Given the description of an element on the screen output the (x, y) to click on. 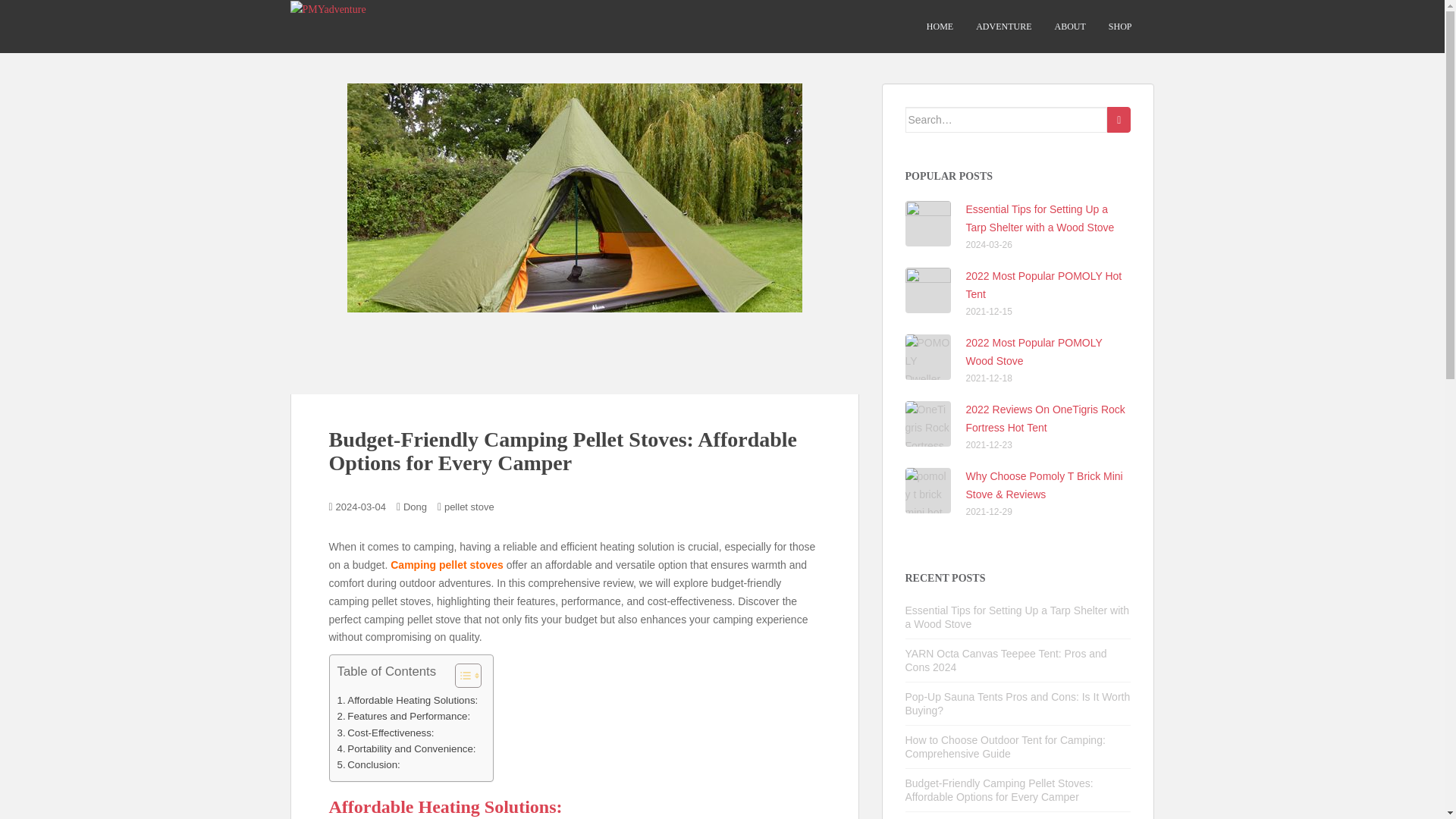
2022 Reviews On OneTigris Rock Fortress Hot Tent (1045, 418)
Features and Performance: (403, 715)
Cost-Effectiveness: (384, 732)
Conclusion: (367, 764)
Affordable Heating Solutions: (406, 700)
Search (1118, 119)
Search for: (1006, 119)
YARN Octa Canvas Teepee Tent: Pros and Cons 2024 (1005, 660)
Conclusion: (367, 764)
